Given the description of an element on the screen output the (x, y) to click on. 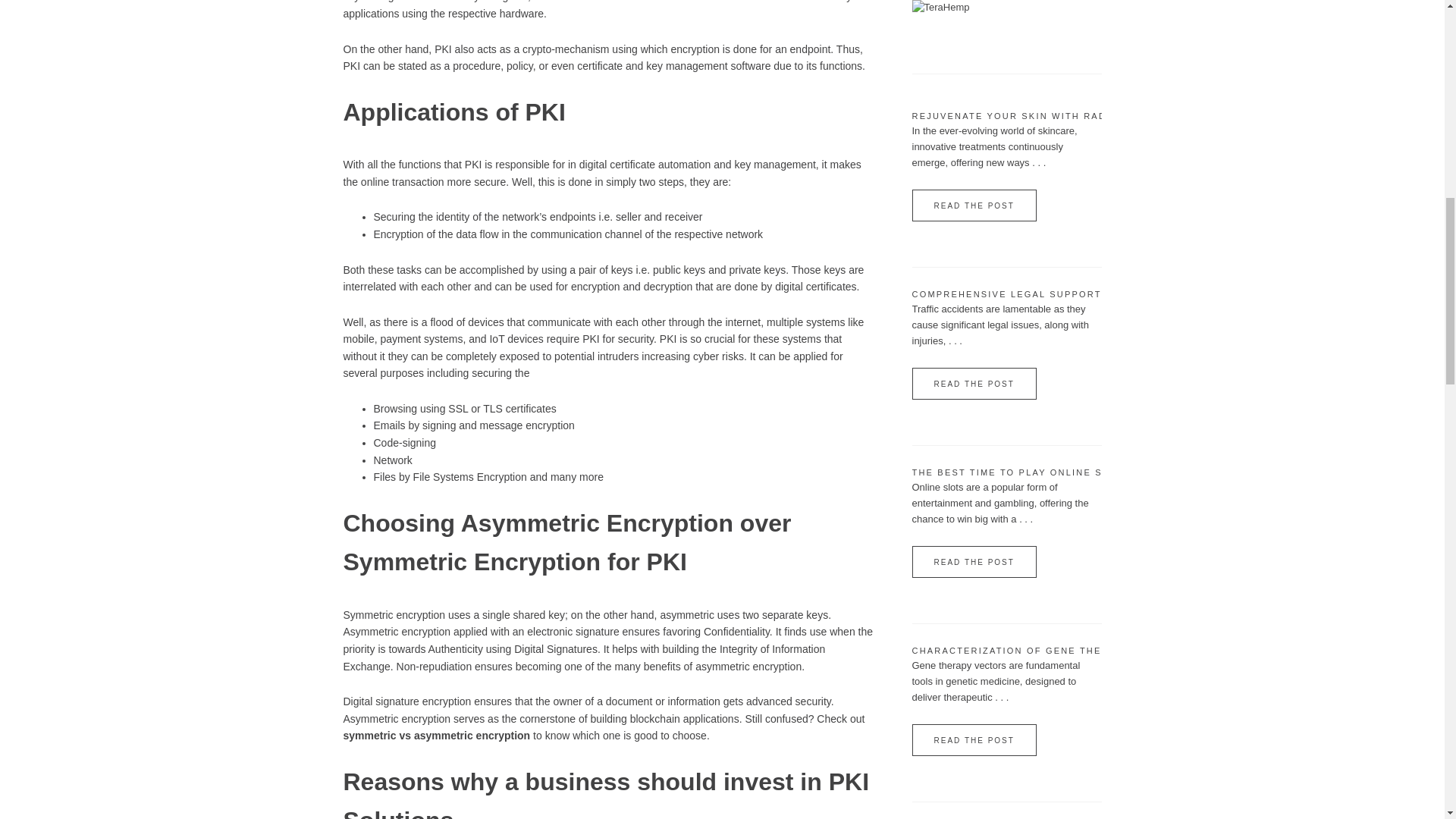
READ THE POST (973, 562)
REJUVENATE YOUR SKIN WITH RADIOFREQUENCY FACIALS (1072, 115)
THE BEST TIME TO PLAY ONLINE SLOTS FOR MAXIMUM RETURNS (1089, 471)
READ THE POST (973, 383)
CHARACTERIZATION OF GENE THERAPY VECTORS (1048, 650)
symmetric vs asymmetric encryption (435, 735)
READ THE POST (973, 205)
TeraHemp (940, 7)
